Given the description of an element on the screen output the (x, y) to click on. 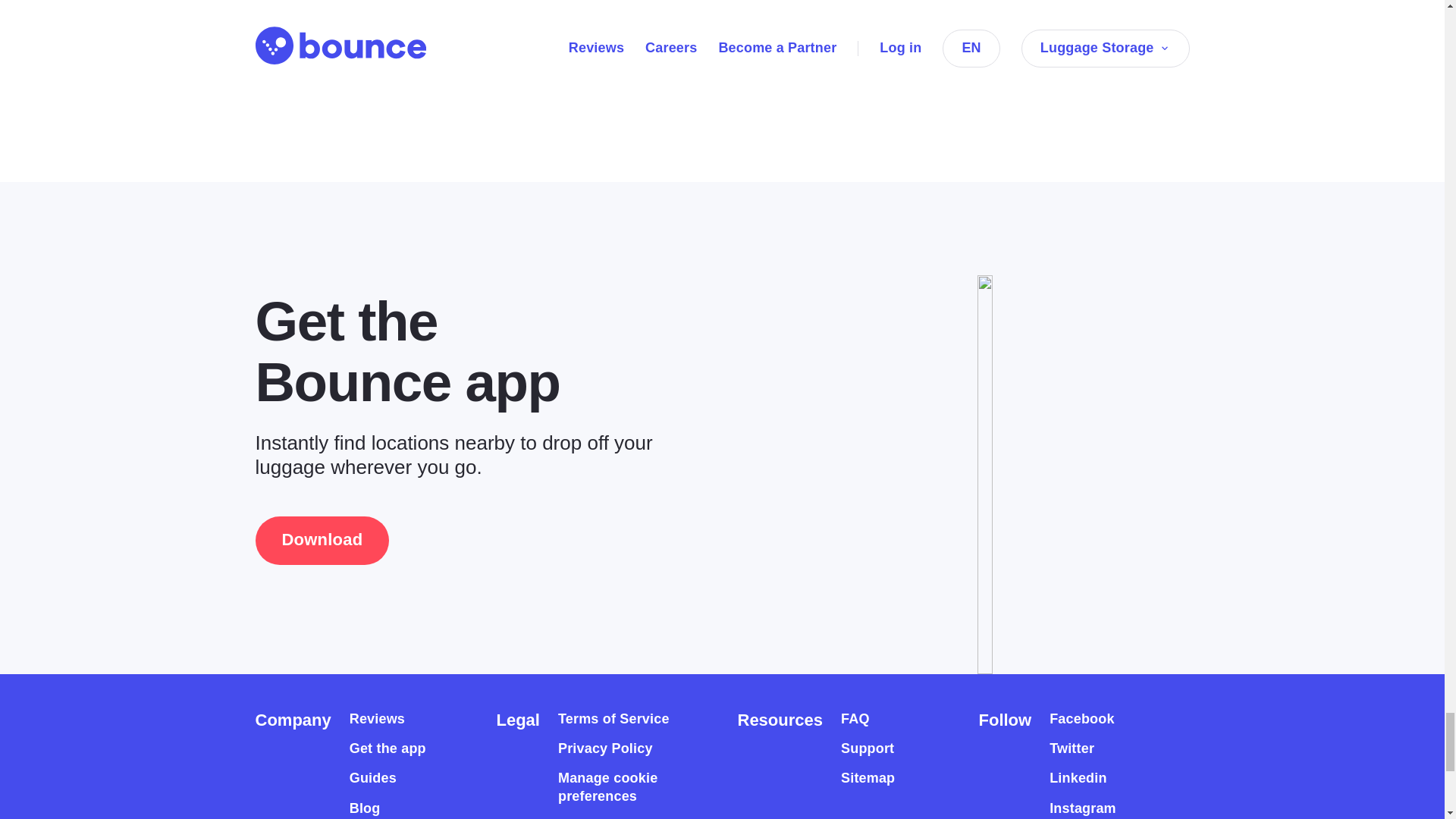
Privacy Policy (604, 748)
Manage cookie preferences (619, 787)
Rome (631, 52)
Sydney (803, 52)
Los Angeles (398, 52)
Guides (372, 778)
Get the app (387, 748)
Reviews (376, 719)
Download (321, 540)
Singapore (893, 52)
Blog (364, 808)
Barcelona (713, 52)
Terms of Service (613, 719)
New York (292, 52)
London (498, 52)
